Given the description of an element on the screen output the (x, y) to click on. 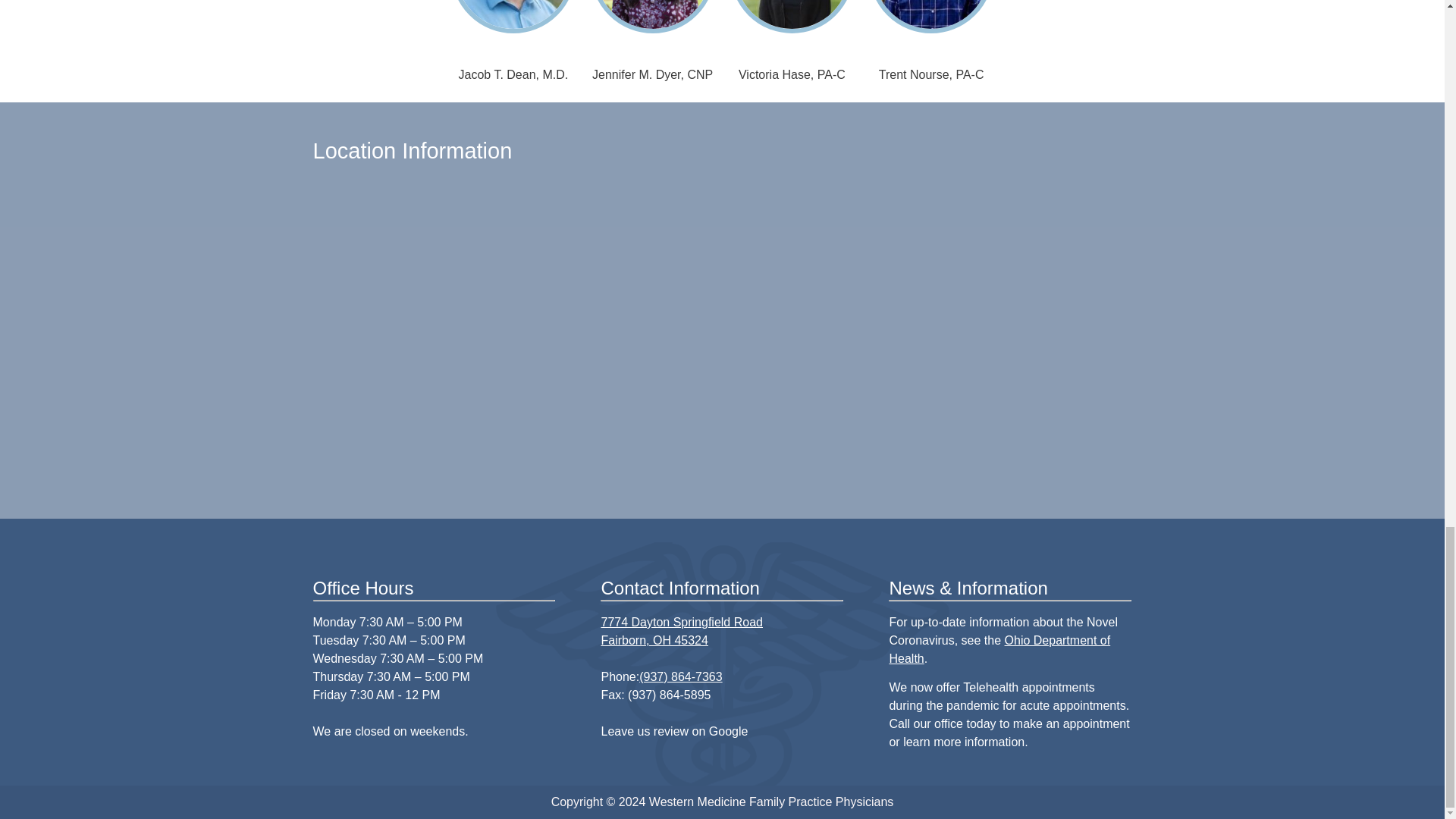
Leave us review on Google (673, 730)
Ohio Department of Health. (998, 649)
Victoria Hase, PA-C (791, 74)
trent Nourse (680, 631)
Jennifer M. Dyer, CNP (930, 16)
Jacob T. Dean, M.D. (652, 74)
Trent Nourse, PA-C (513, 74)
Victoria Hase (931, 74)
